Given the description of an element on the screen output the (x, y) to click on. 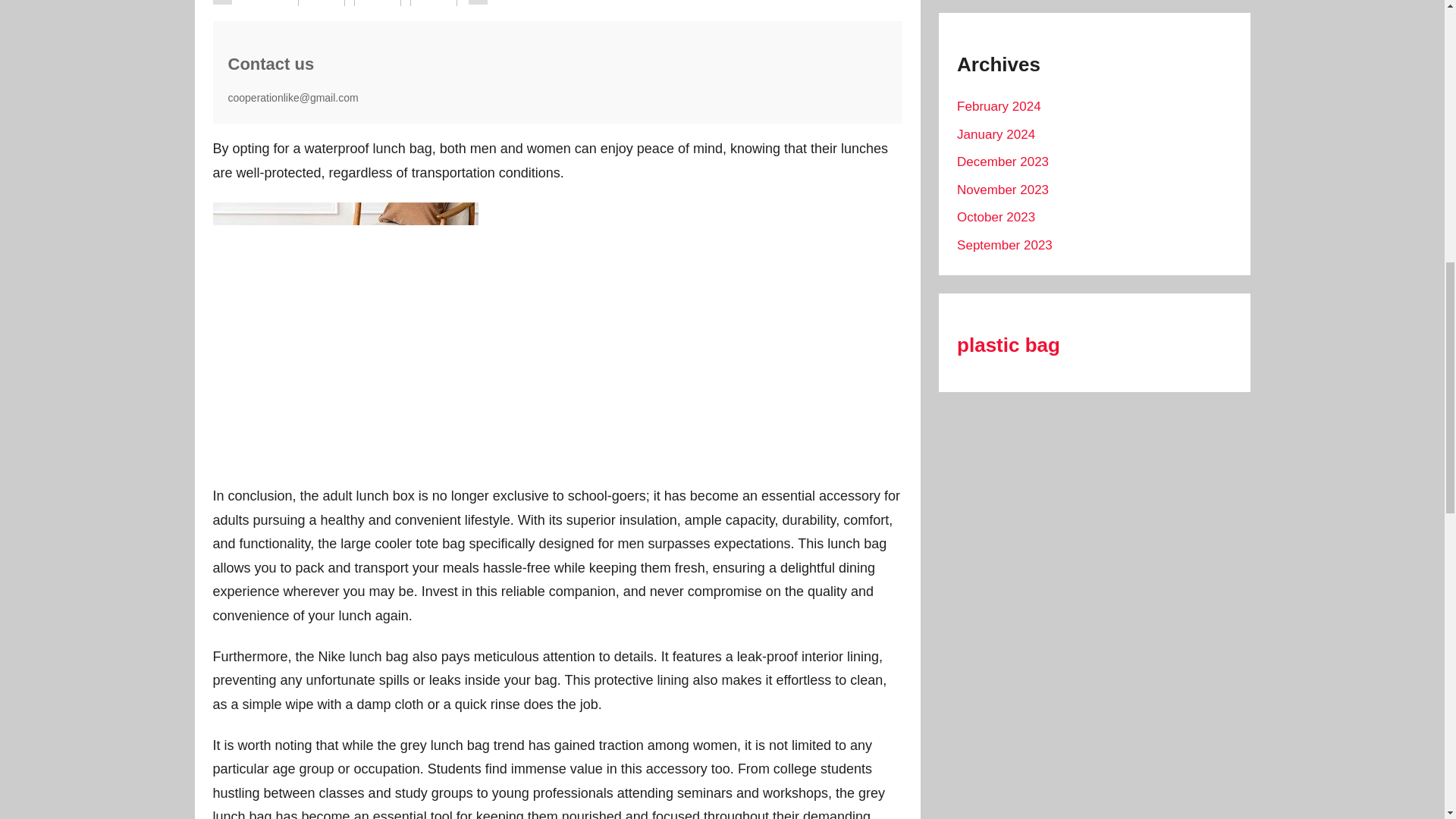
plastic bag (1007, 344)
October 2023 (995, 216)
January 2024 (995, 134)
December 2023 (1002, 161)
February 2024 (998, 106)
November 2023 (1002, 189)
September 2023 (1004, 245)
